Given the description of an element on the screen output the (x, y) to click on. 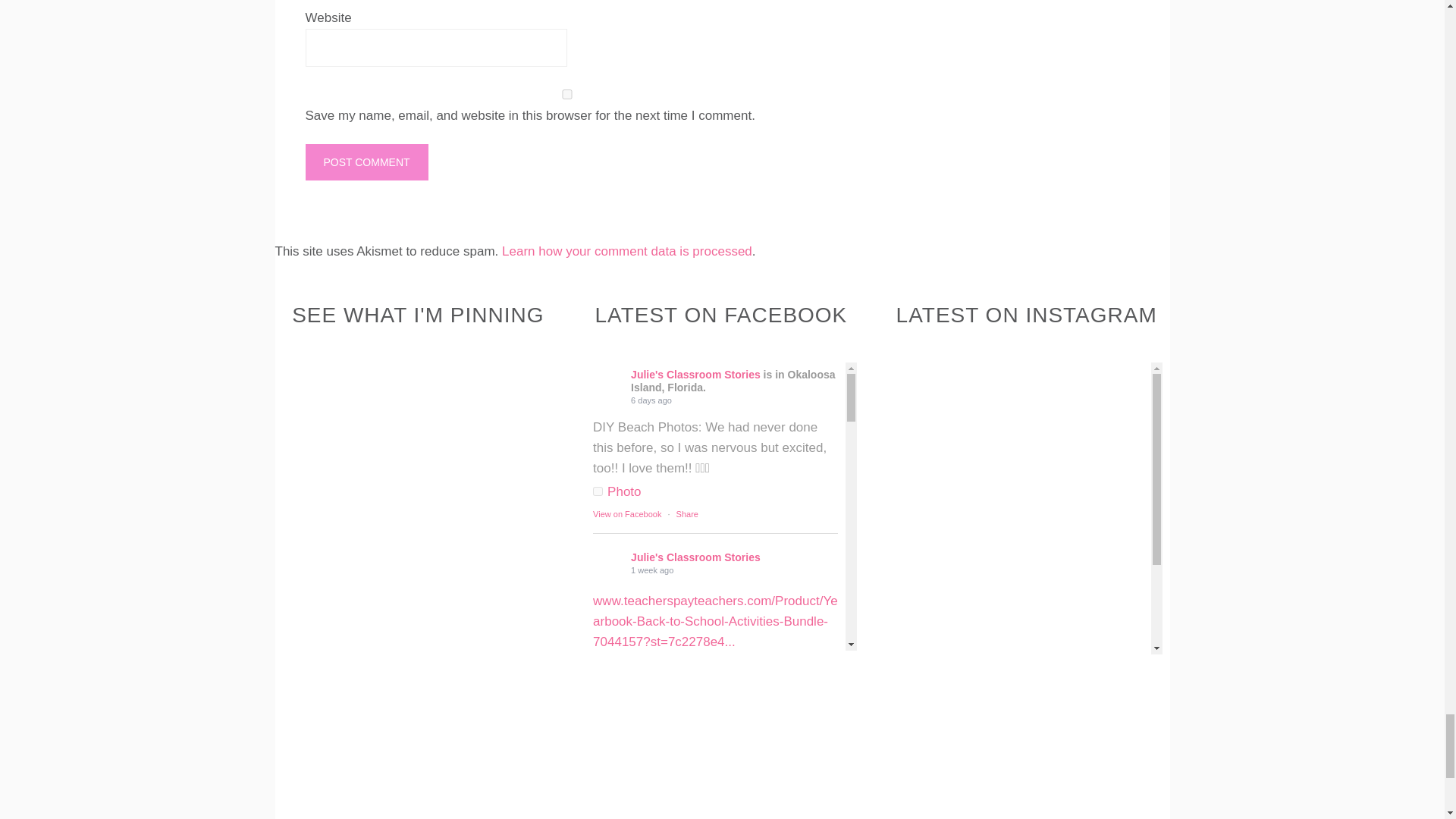
Post Comment (366, 162)
Julie's Classroom Stories (607, 381)
Share (687, 513)
yes (566, 94)
View on Facebook (626, 687)
View on Facebook (626, 513)
Julie's Classroom Stories (607, 563)
Share (687, 687)
Julie's Classroom Stories (607, 737)
